Given the description of an element on the screen output the (x, y) to click on. 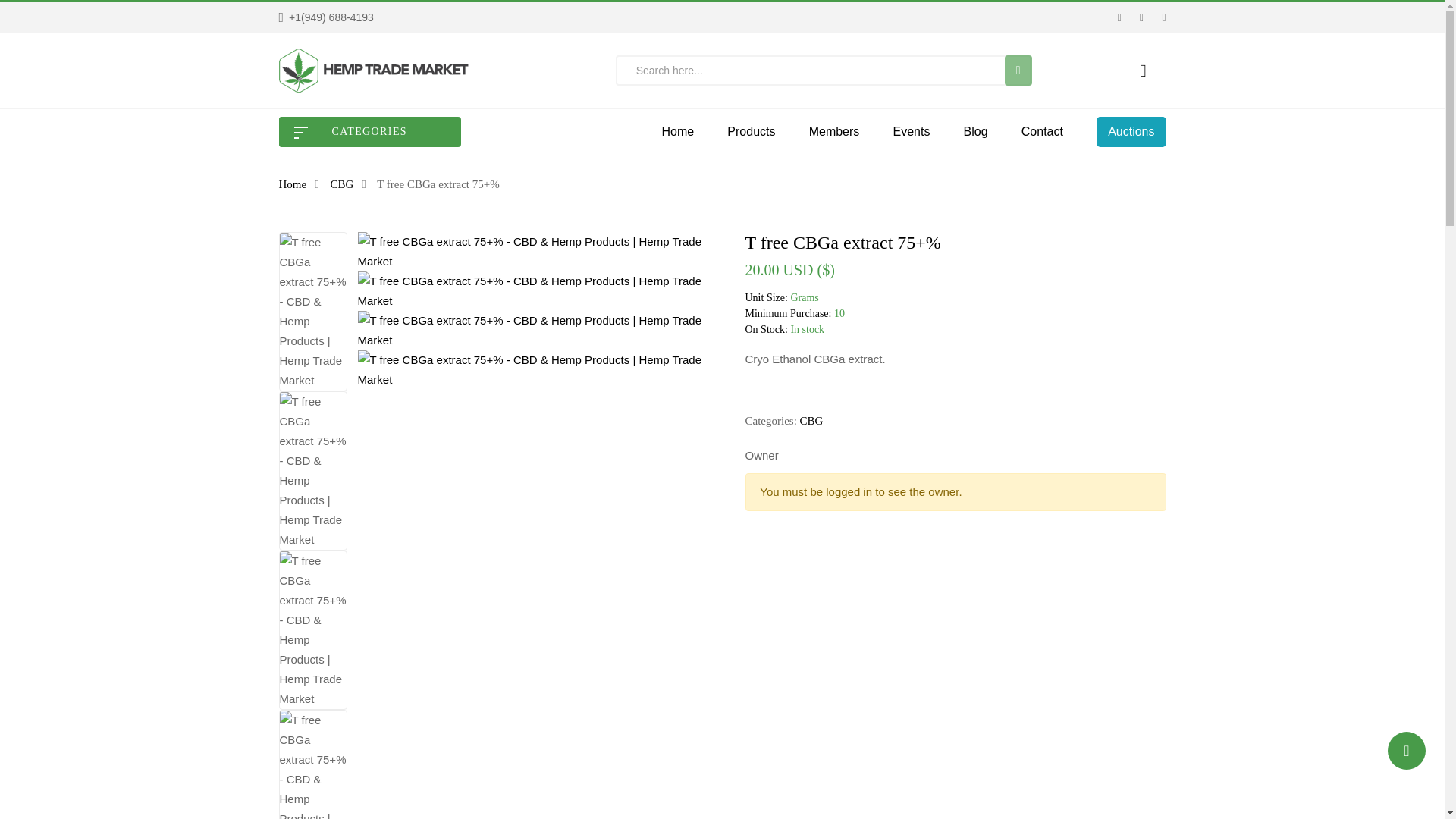
Products (750, 132)
Home (677, 132)
Members (834, 132)
Order Tracking (326, 16)
